Given the description of an element on the screen output the (x, y) to click on. 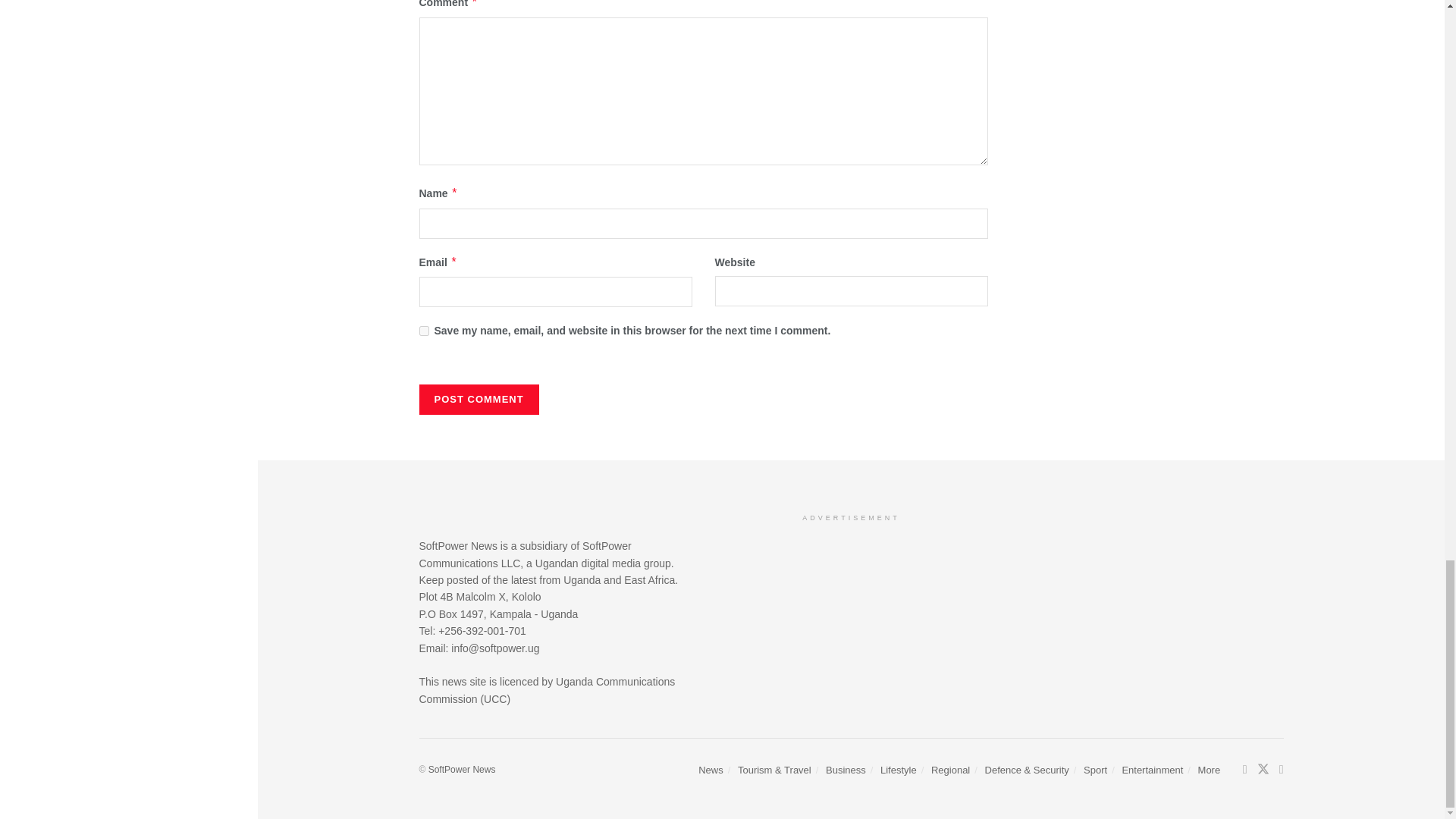
SoftPower News (462, 769)
Post Comment (478, 399)
yes (423, 330)
